Given the description of an element on the screen output the (x, y) to click on. 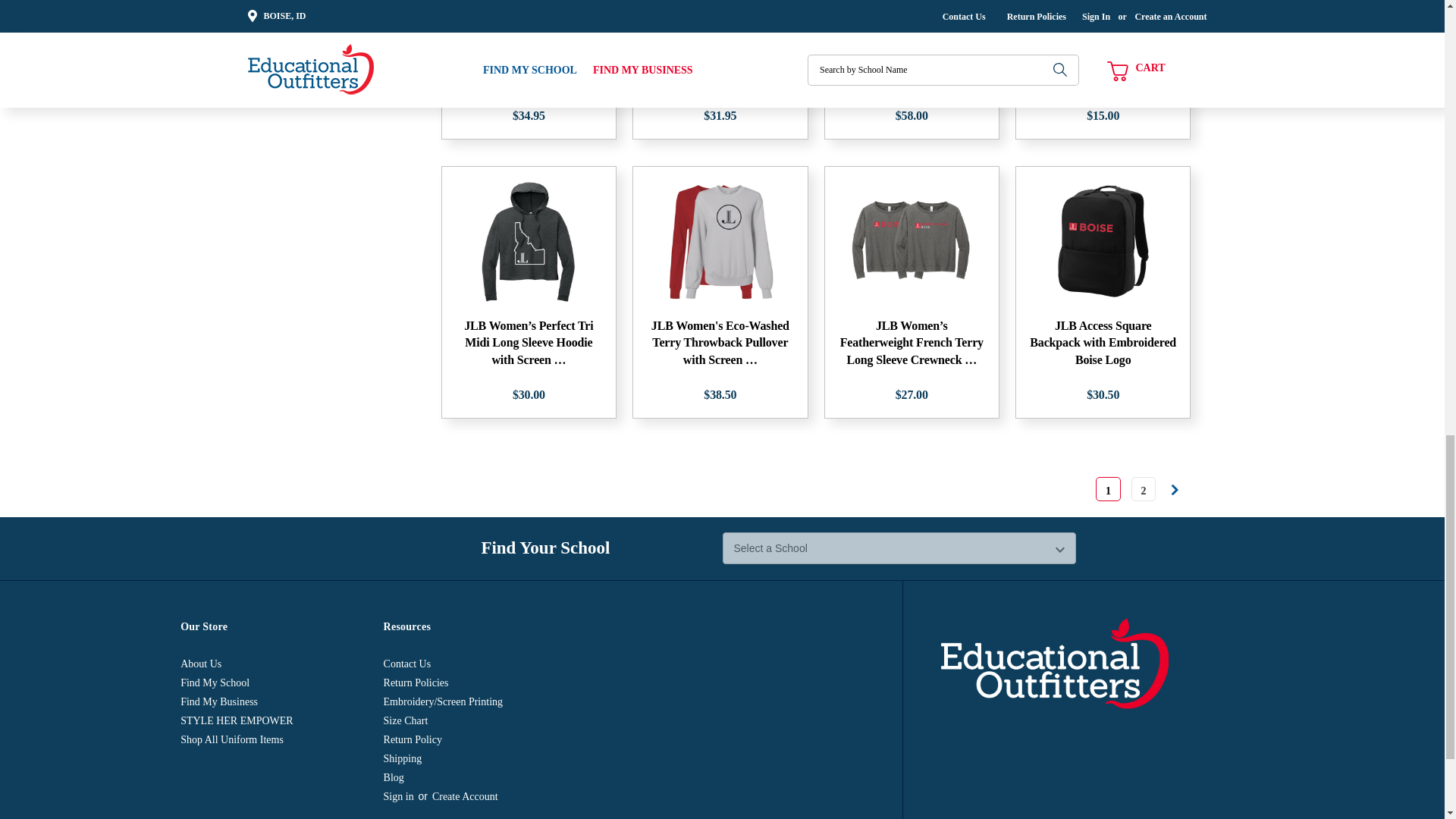
JLB Carhartt Watch Cap 2.0 with Embroidered Boise Logo (528, 12)
